Given the description of an element on the screen output the (x, y) to click on. 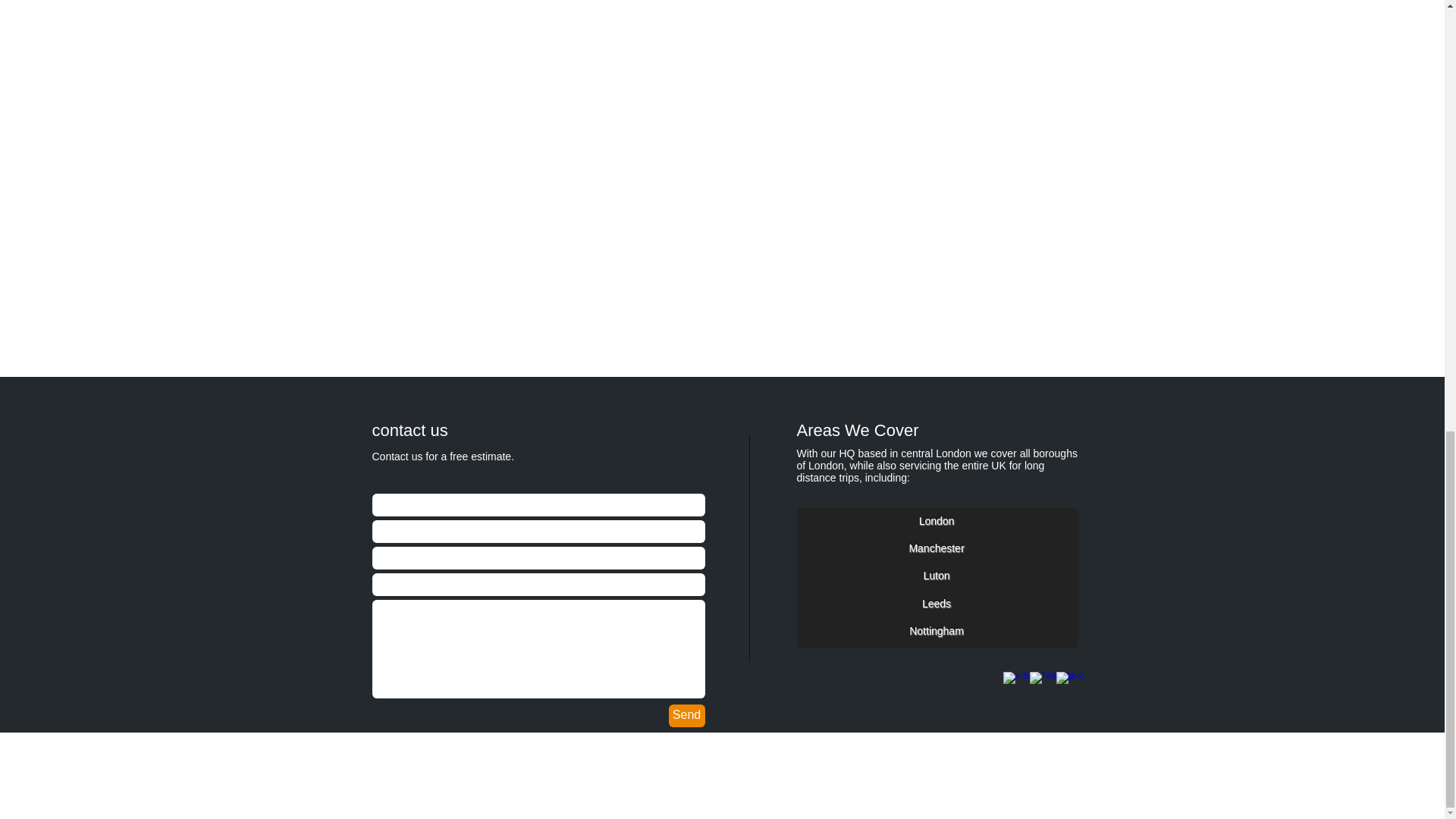
Send (686, 715)
